Given the description of an element on the screen output the (x, y) to click on. 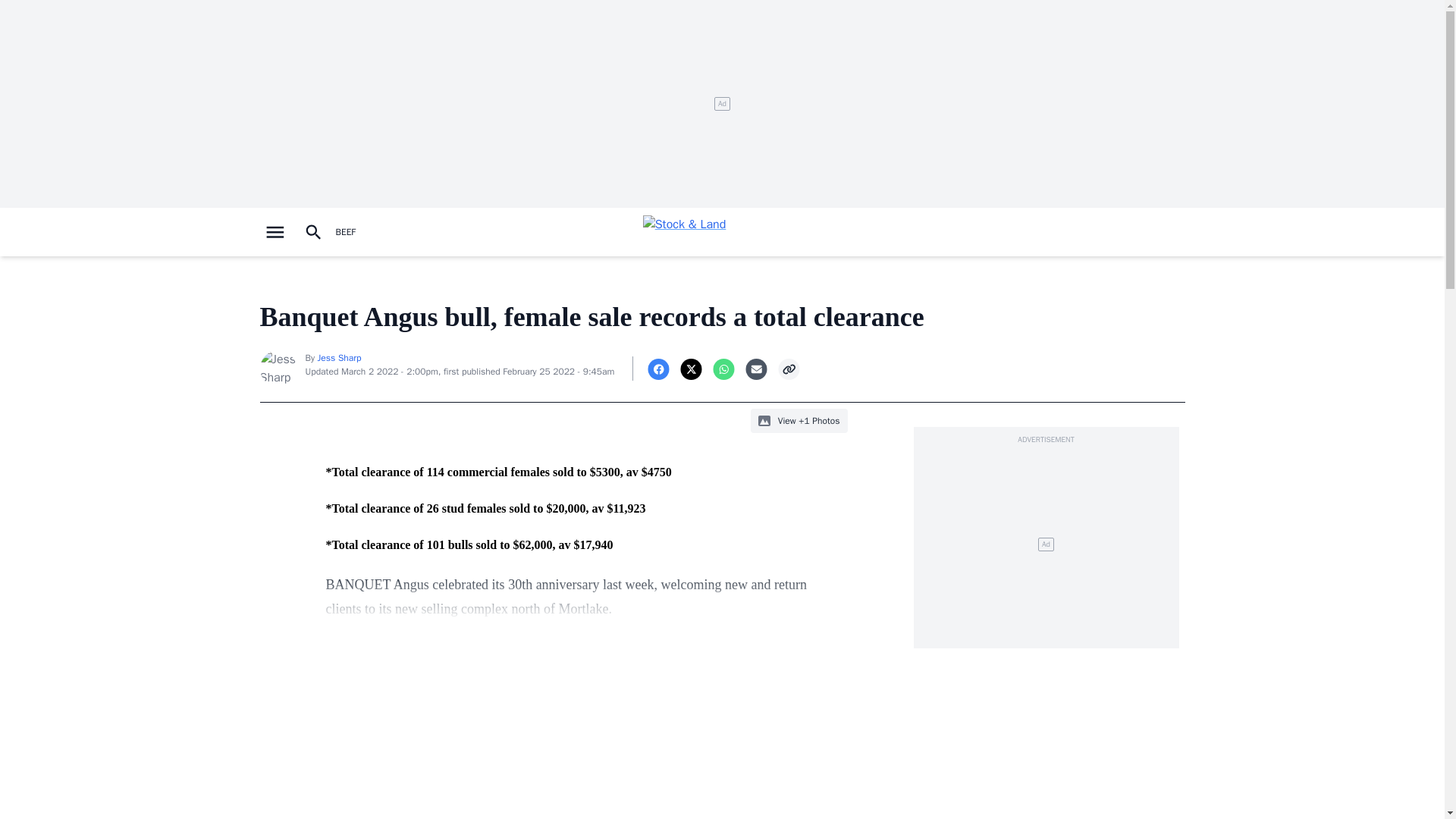
BEEF (345, 232)
